Given the description of an element on the screen output the (x, y) to click on. 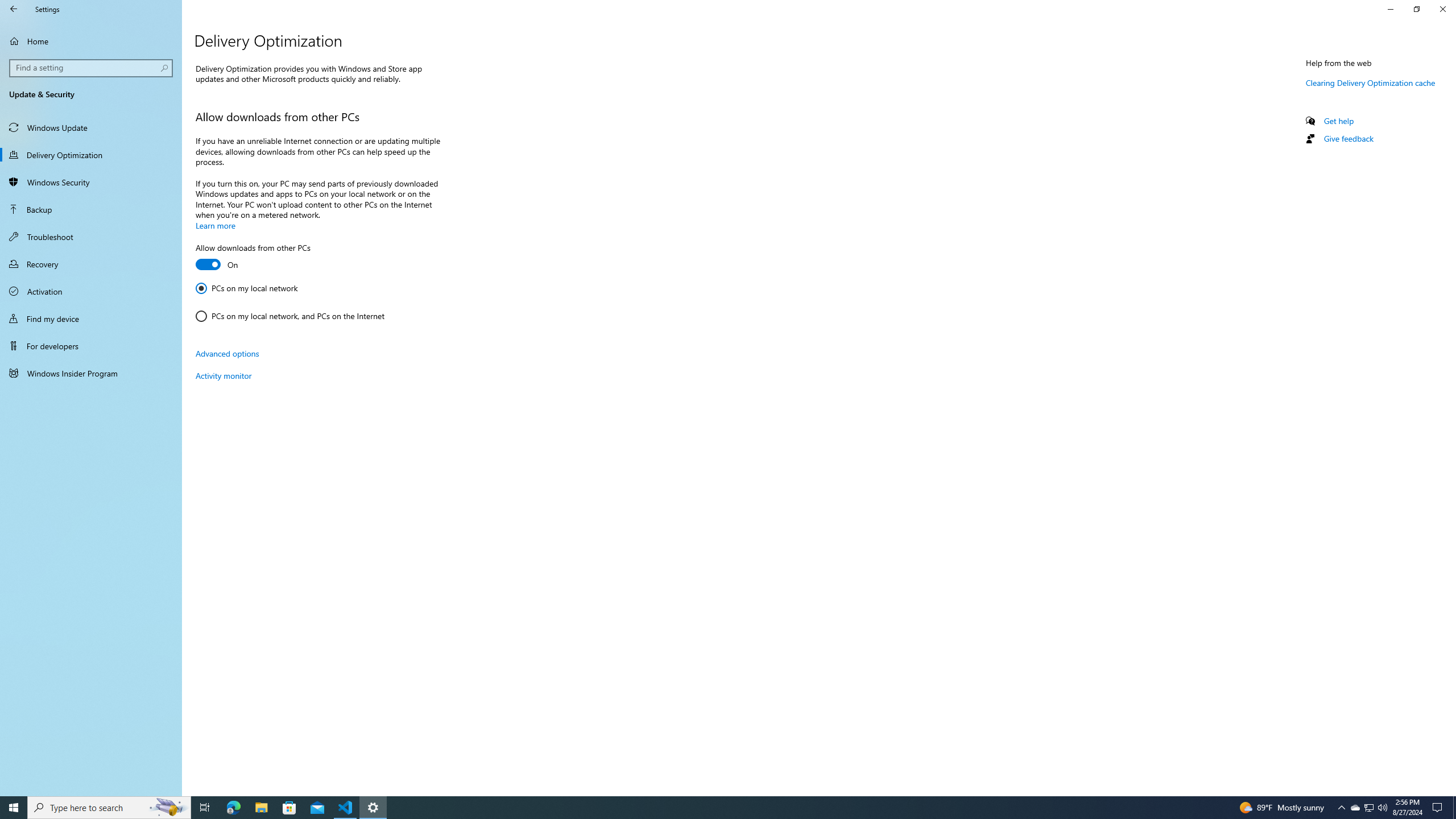
Recovery (91, 263)
Windows Update (91, 126)
Back (13, 9)
Clearing Delivery Optimization cache (1370, 82)
Allow downloads from other PCs (252, 257)
Type here to search (108, 807)
Minimize Settings (1390, 9)
PCs on my local network, and PCs on the Internet (289, 316)
Backup (91, 208)
Microsoft Edge (233, 807)
Activation (91, 290)
Search highlights icon opens search home window (1368, 807)
